Given the description of an element on the screen output the (x, y) to click on. 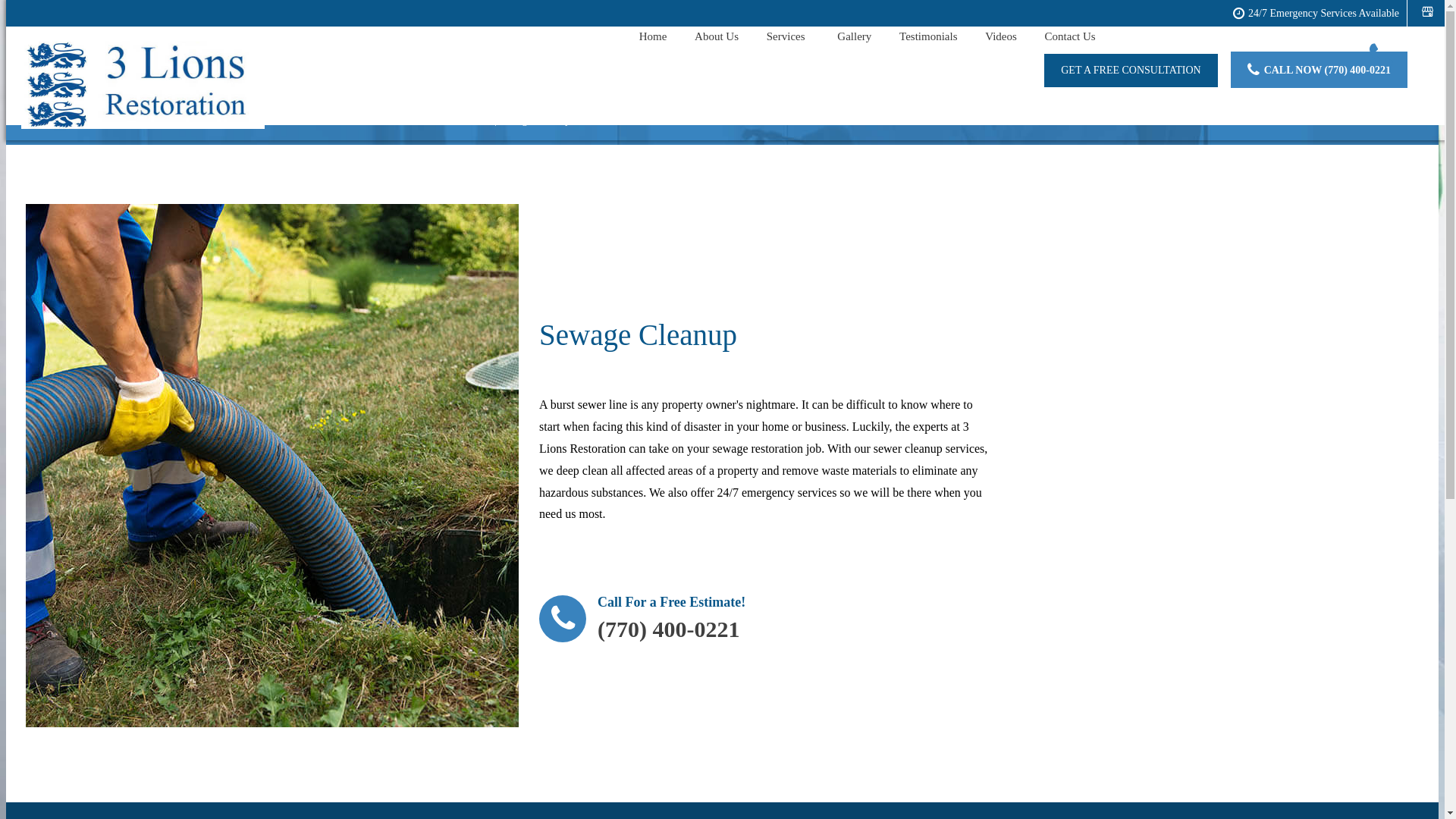
Call For a Free Estimate!
(770) 400-0221 Element type: text (642, 622)
Services Element type: text (788, 37)
CALL NOW (770) 400-0221 Element type: text (1318, 69)
Gallery Element type: text (854, 37)
GET A FREE CONSULTATION Element type: text (1130, 70)
Videos Element type: text (1000, 37)
Back To Home Element type: text (460, 119)
About Us Element type: text (716, 37)
Sewage Cleanup Element type: text (534, 119)
Home Element type: text (653, 37)
Contact Us Element type: text (1069, 37)
Google My Business Element type: hover (1427, 12)
CALL NOW (770) 400-0221 Element type: text (1327, 69)
Testimonials Element type: text (928, 37)
GET A FREE CONSULTATION Element type: text (1130, 69)
